Given the description of an element on the screen output the (x, y) to click on. 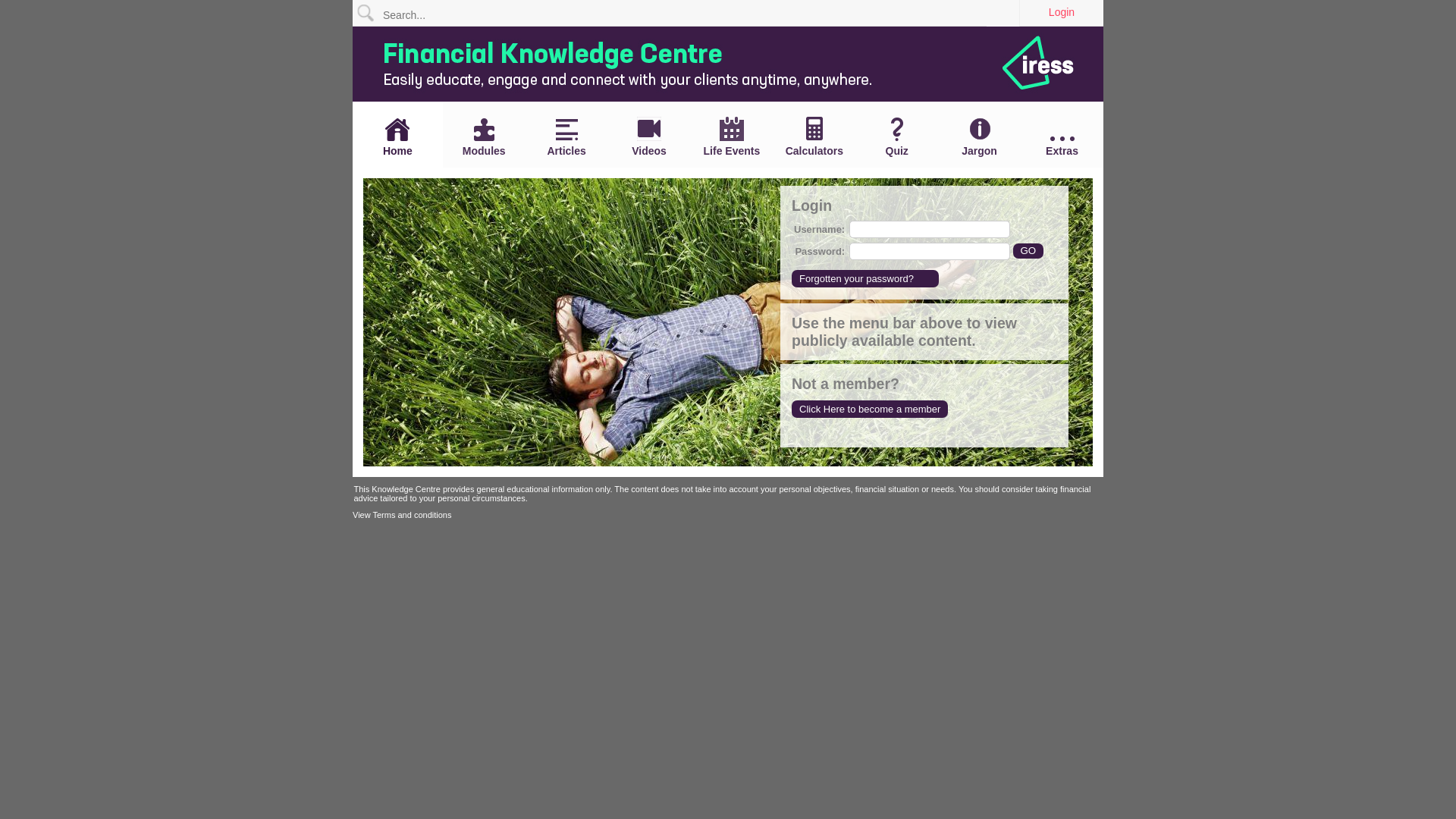
Videos Element type: text (649, 136)
GO Element type: text (1028, 249)
Jargon Element type: text (979, 136)
Forgotten your password? Element type: text (864, 278)
Click Here to become a member Element type: text (869, 408)
Home Element type: text (397, 136)
Modules Element type: text (483, 136)
Calculators Element type: text (813, 136)
Extras Element type: text (1061, 146)
Life Events Element type: text (731, 136)
Articles Element type: text (566, 137)
Quiz Element type: text (896, 136)
View Terms and conditions Element type: text (401, 514)
